Given the description of an element on the screen output the (x, y) to click on. 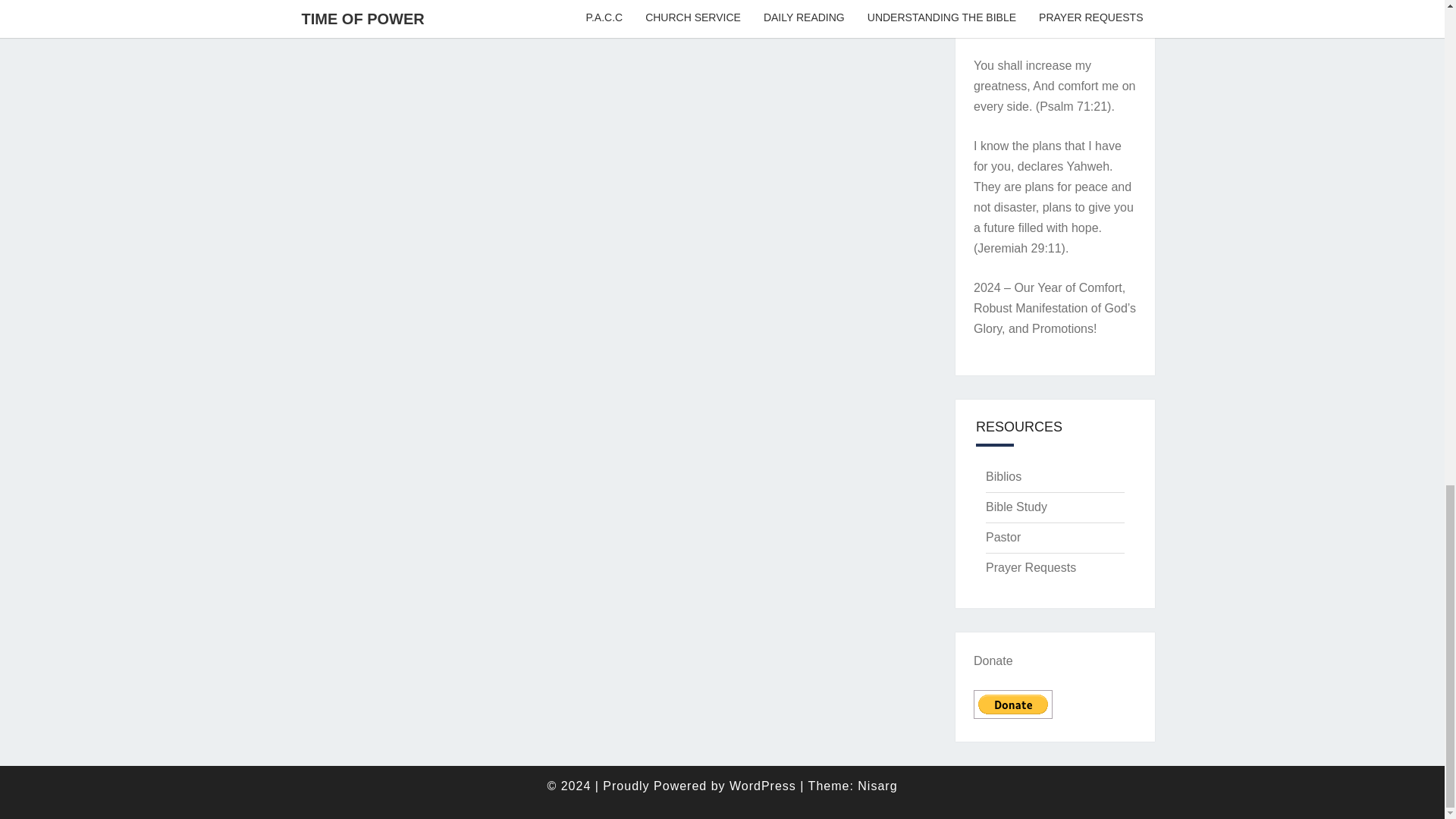
Prayer Requests (1030, 567)
Pastor (1002, 536)
Bible Study (1015, 506)
Nisarg (876, 785)
WordPress (762, 785)
Biblios (1003, 476)
